Given the description of an element on the screen output the (x, y) to click on. 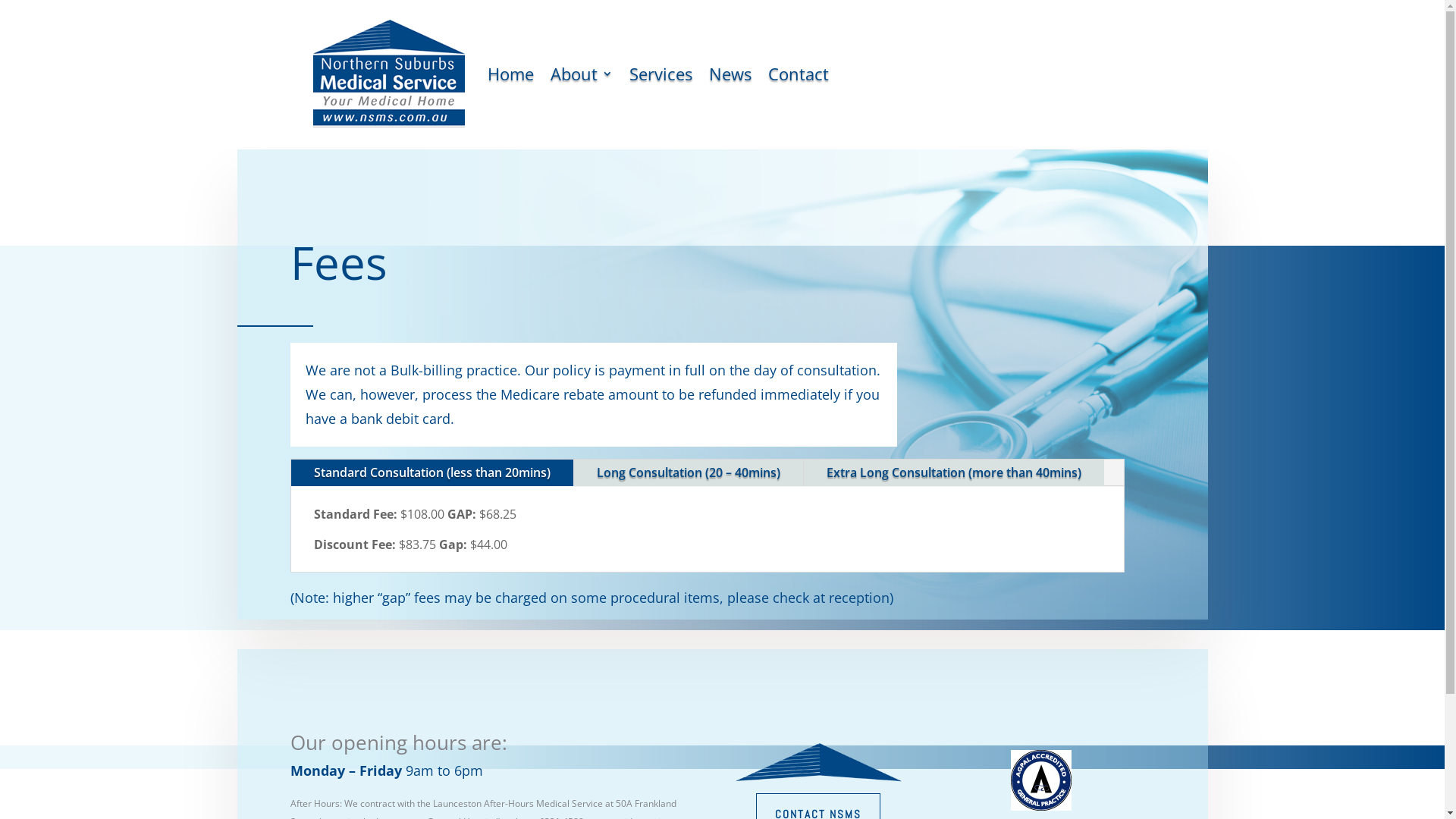
Home Element type: text (509, 73)
Extra Long Consultation (more than 40mins) Element type: text (953, 472)
Standard Consultation (less than 20mins) Element type: text (432, 472)
Services Element type: text (660, 73)
About Element type: text (581, 73)
News Element type: text (729, 73)
Contact Element type: text (797, 73)
